Given the description of an element on the screen output the (x, y) to click on. 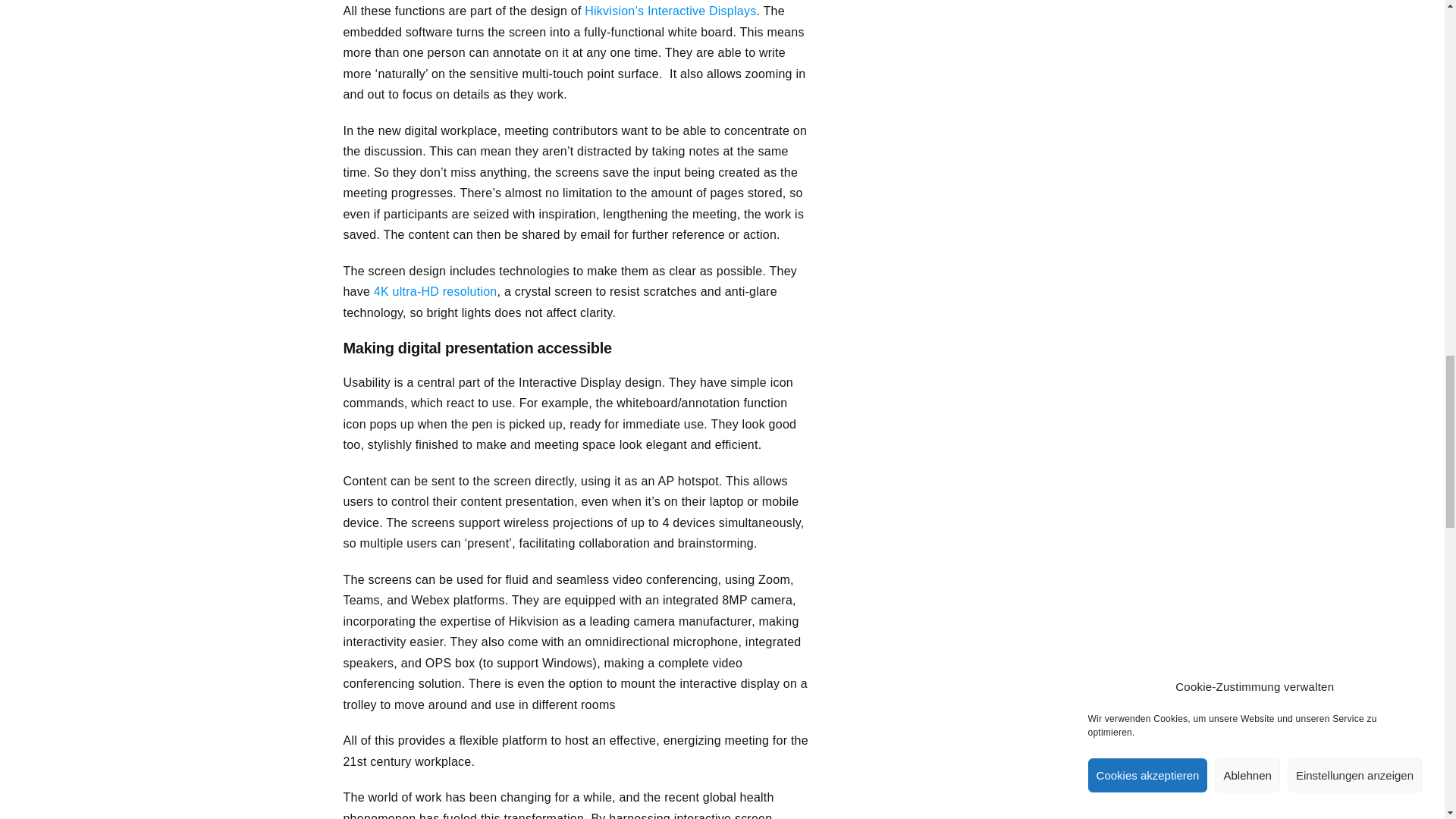
Hikvision's Interactive Displays (670, 10)
4K ultra-HD resolution (435, 291)
